Given the description of an element on the screen output the (x, y) to click on. 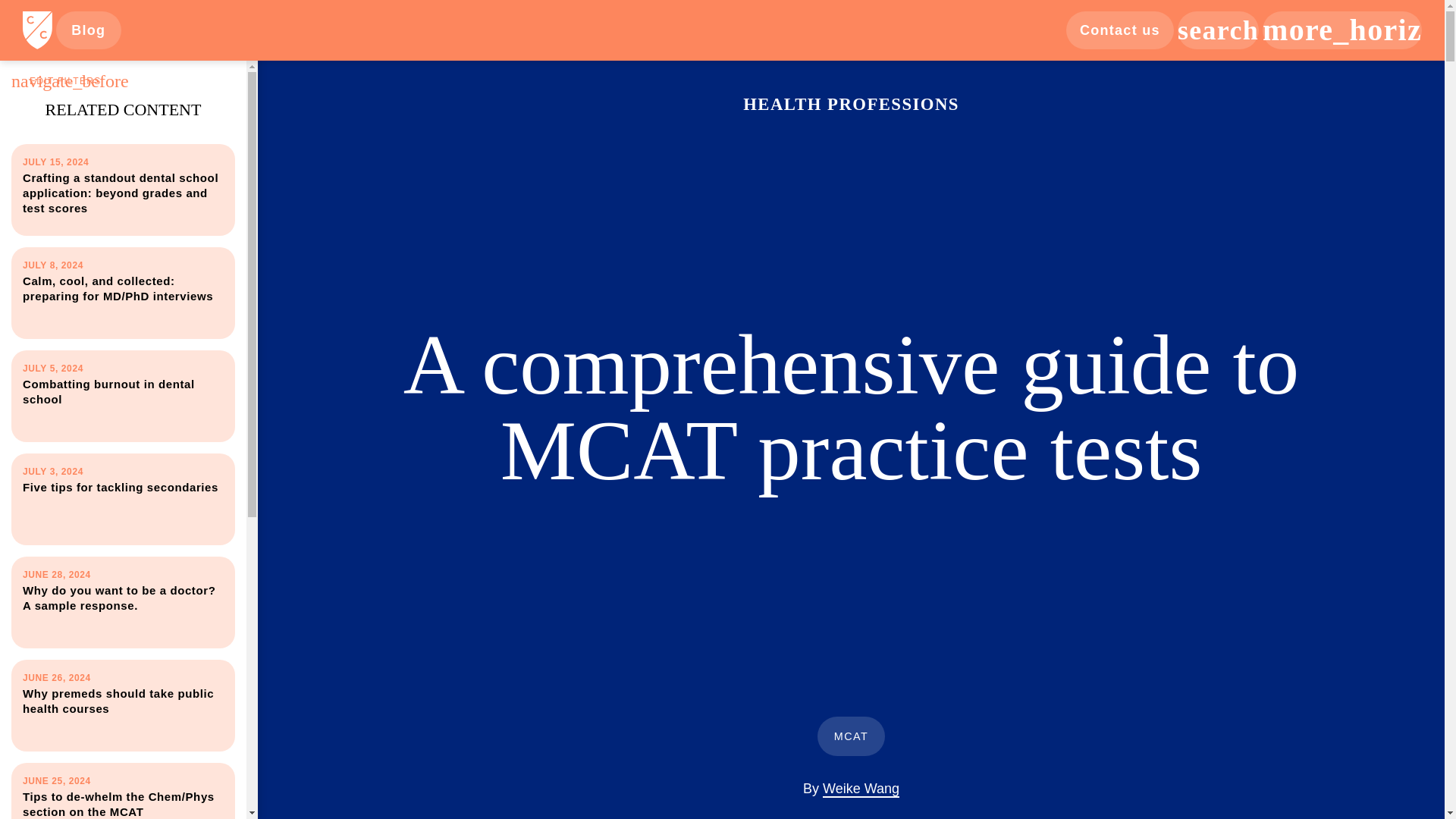
MCAT (850, 735)
Weike Wang (860, 789)
HEALTH PROFESSIONS (850, 104)
